Given the description of an element on the screen output the (x, y) to click on. 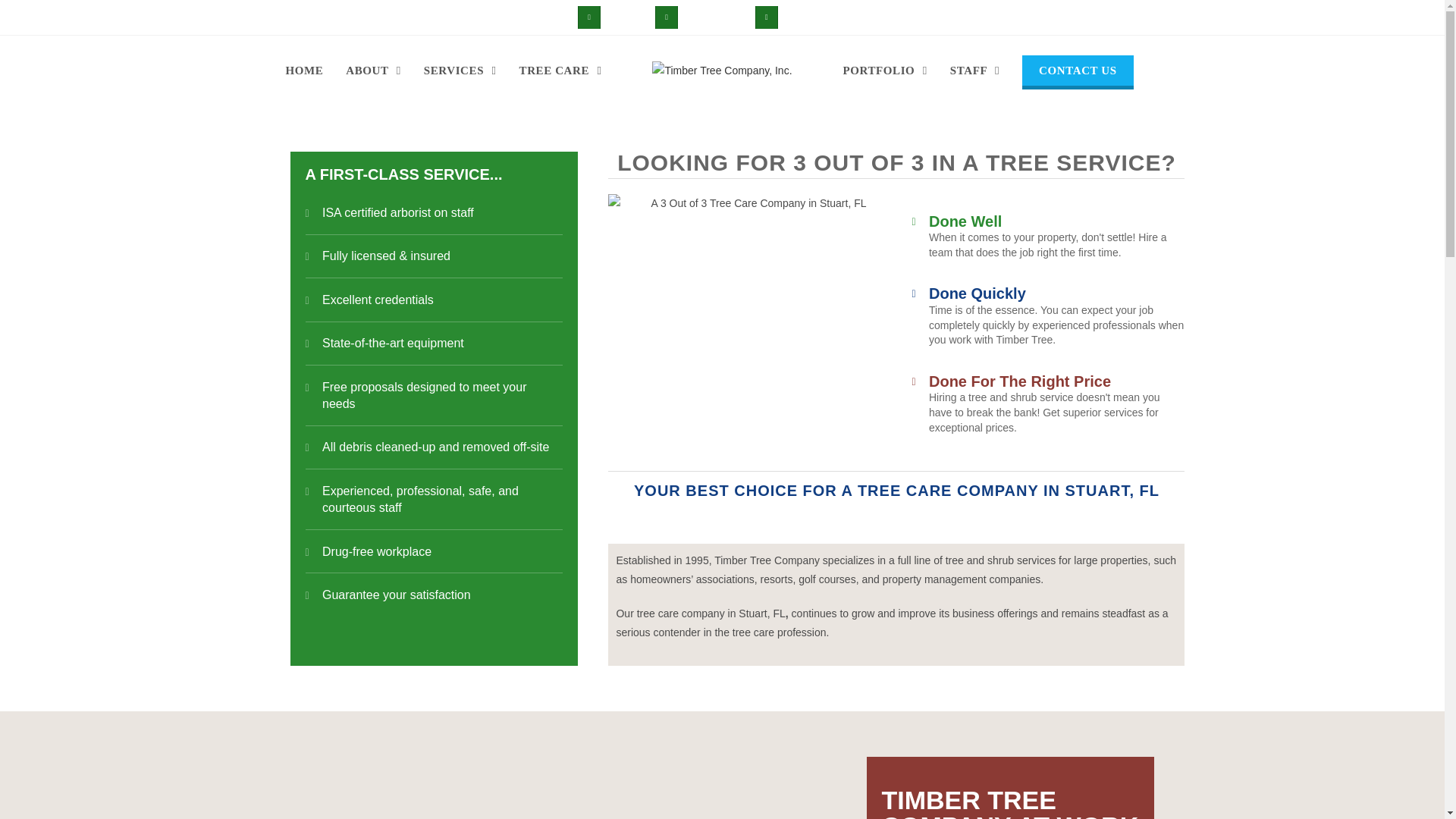
STAFF (974, 70)
ABOUT (373, 70)
PORTFOLIO (884, 70)
SERVICES (460, 70)
Home 1 (752, 324)
HOME (303, 70)
CONTACT US (1077, 70)
TREE CARE (560, 70)
